Given the description of an element on the screen output the (x, y) to click on. 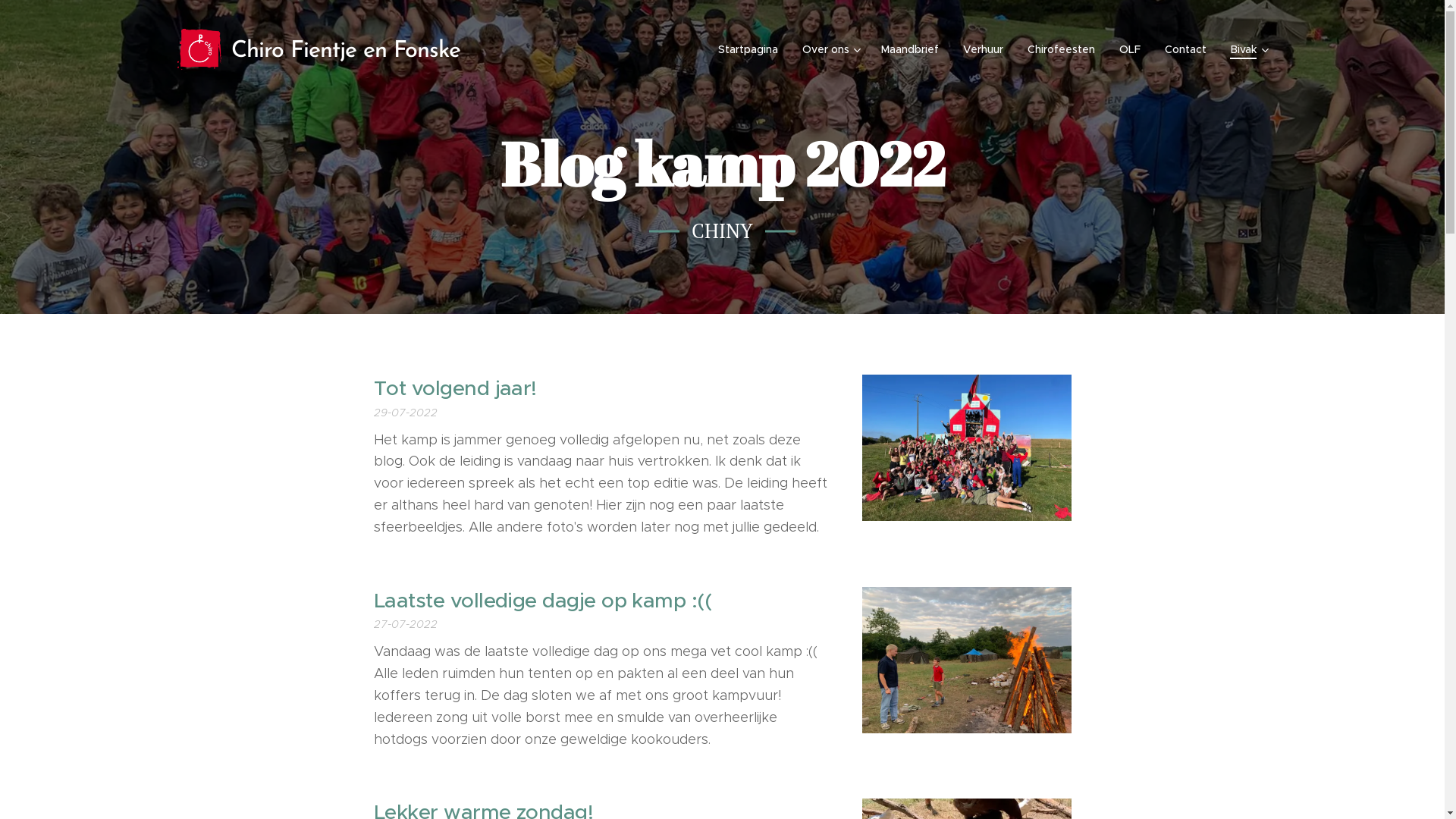
Maandbrief Element type: text (909, 49)
Chirofeesten Element type: text (1060, 49)
Tot volgend jaar! Element type: text (602, 388)
Chiro Fientje en Fonske Element type: text (320, 49)
Contact Element type: text (1185, 49)
Startpagina Element type: text (752, 49)
Verhuur Element type: text (982, 49)
Bivak Element type: text (1242, 49)
OLF Element type: text (1129, 49)
Laatste volledige dagje op kamp :(( Element type: text (602, 600)
Over ons Element type: text (829, 49)
